Given the description of an element on the screen output the (x, y) to click on. 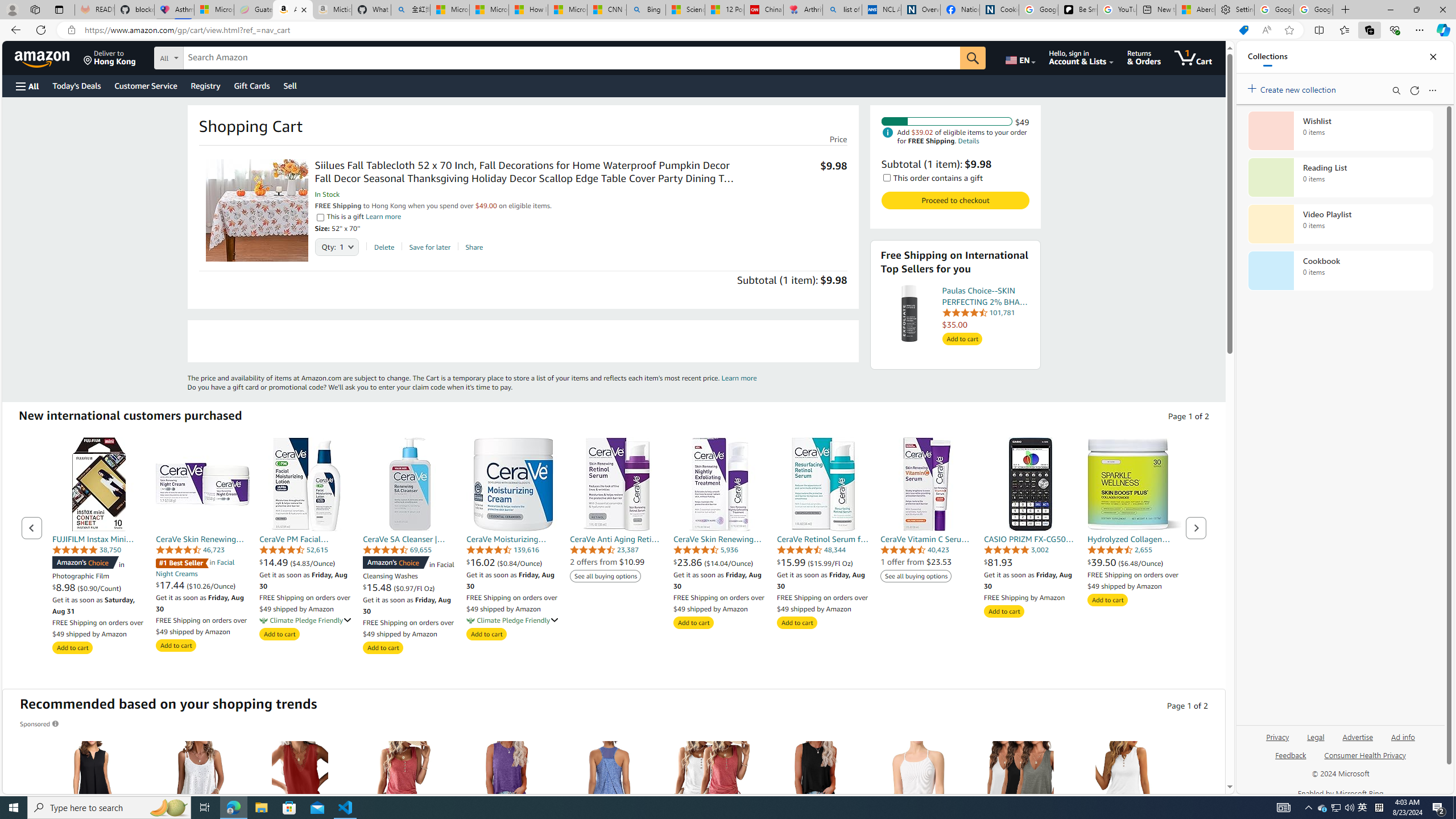
FUJIFILM Instax Mini Contact Sheet Film - 10 Exposures (98, 484)
Details (968, 140)
Cookbook collection, 0 items (1339, 270)
$81.93 (1030, 562)
Science - MSN (685, 9)
$23.86  (688, 562)
Asthma Inhalers: Names and Types (174, 9)
